Given the description of an element on the screen output the (x, y) to click on. 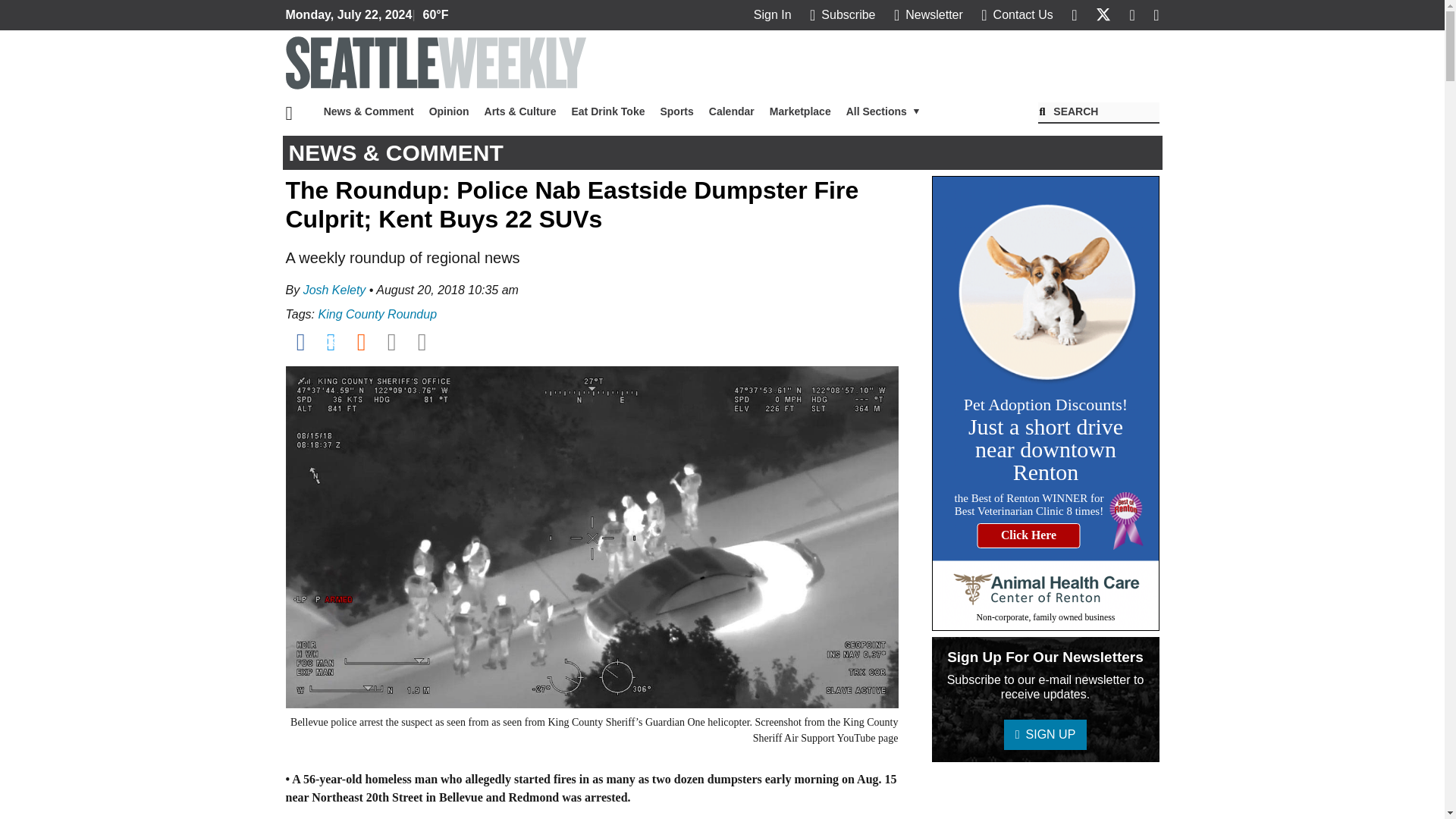
Sports (676, 111)
Eat Drink Toke (607, 111)
Newsletter (927, 14)
Post to Twitter (330, 341)
Contact Us (1016, 14)
Post to Facebook (300, 341)
Print story (421, 341)
Post to Reddit (360, 341)
Opinion (449, 111)
Marketplace (799, 111)
All Sections (883, 111)
Search (1097, 112)
Calendar (731, 111)
Email story (390, 341)
Current weather and forecast (431, 14)
